Given the description of an element on the screen output the (x, y) to click on. 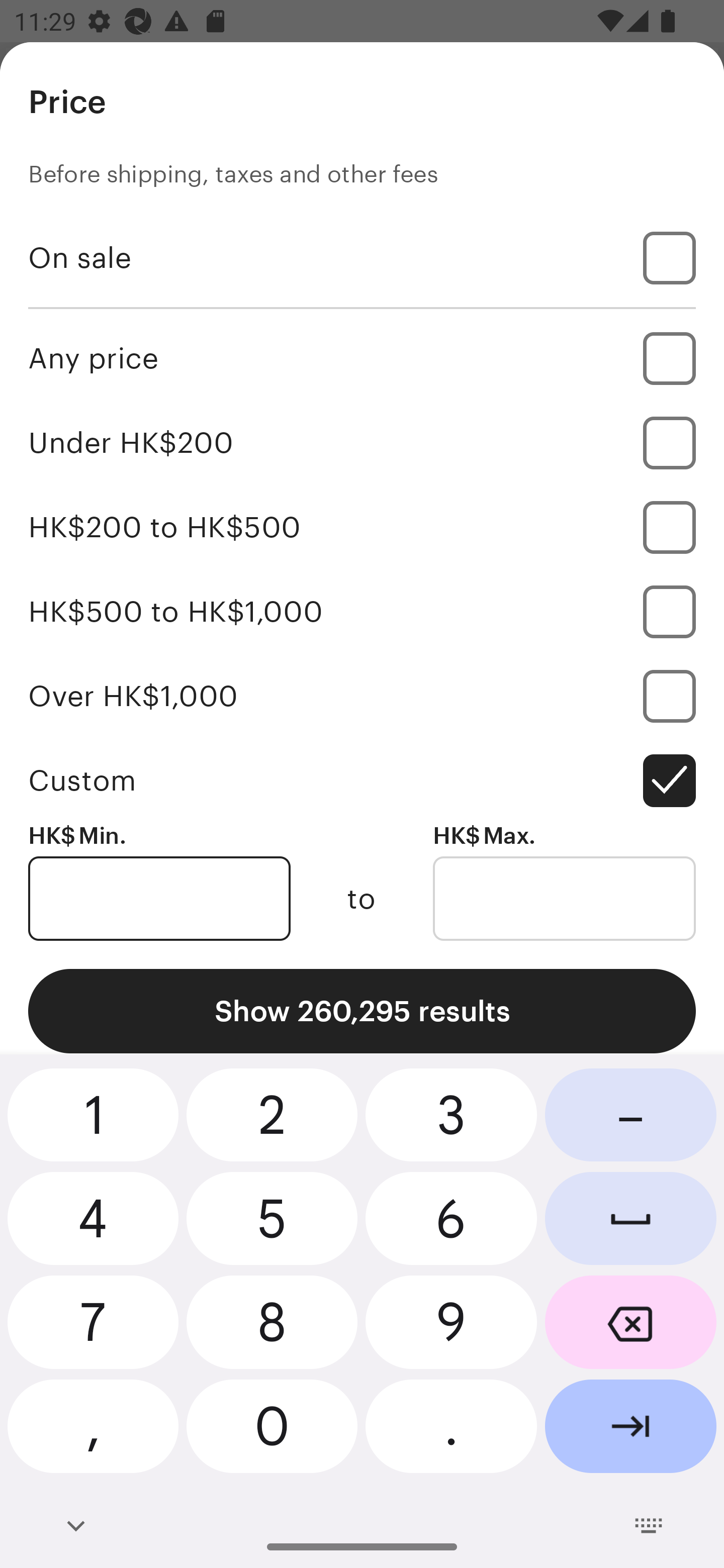
On sale (362, 257)
Any price (362, 357)
Under HK$200 (362, 441)
HK$200 to HK$500 (362, 526)
HK$500 to HK$1,000 (362, 611)
Over HK$1,000 (362, 695)
Custom (362, 780)
Show 260,295 results (361, 1011)
